Given the description of an element on the screen output the (x, y) to click on. 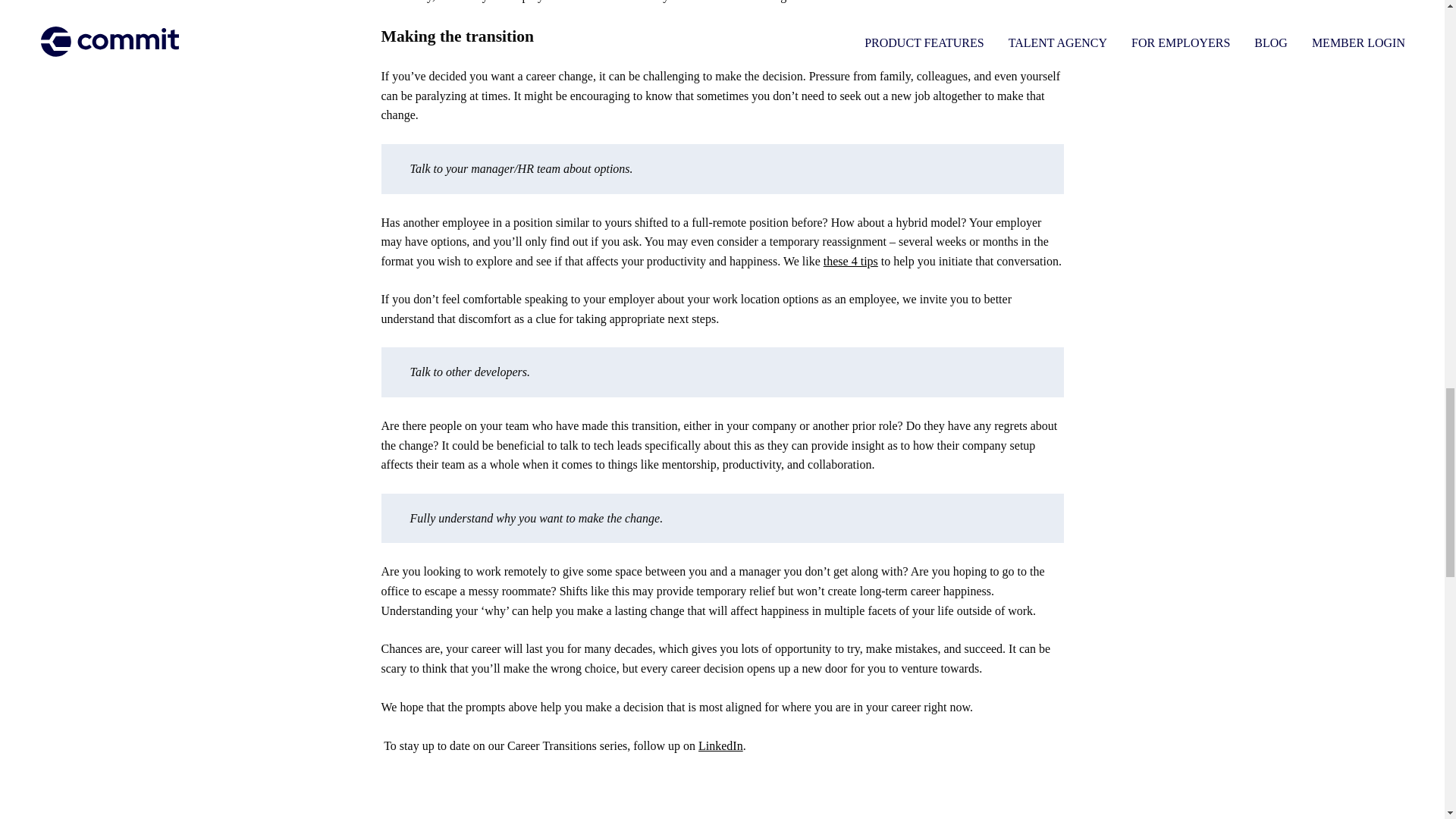
Form 0 (721, 796)
these 4 tips (850, 260)
LinkedIn (720, 745)
